Given the description of an element on the screen output the (x, y) to click on. 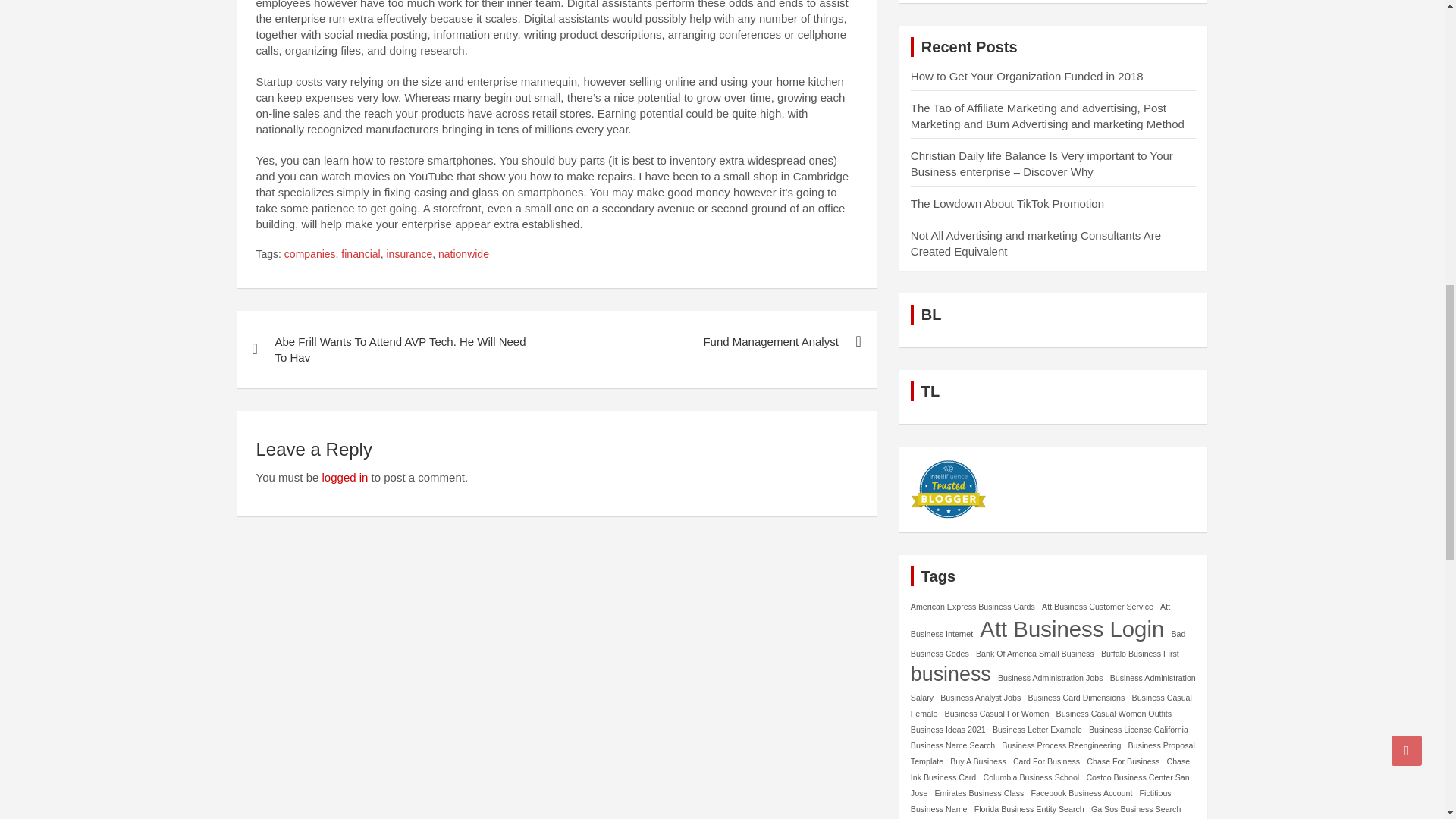
logged in (344, 477)
nationwide (463, 254)
companies (309, 254)
insurance (409, 254)
Abe Frill Wants To Attend AVP Tech. He Will Need To Hav (395, 349)
Fund Management Analyst (716, 341)
financial (360, 254)
